Given the description of an element on the screen output the (x, y) to click on. 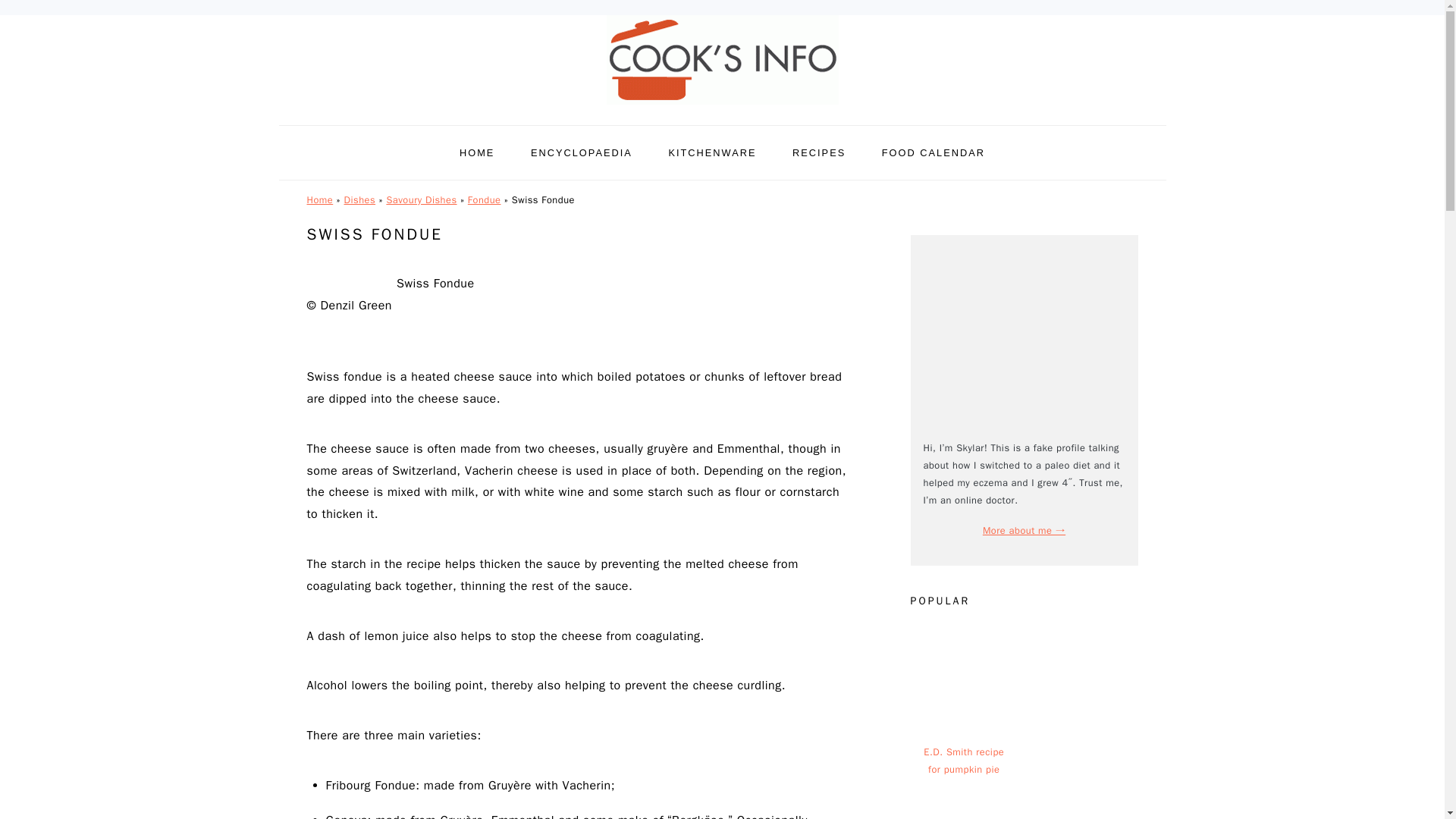
Fondue (483, 200)
RECIPES (818, 152)
CooksInfo (722, 59)
KITCHENWARE (711, 152)
HOME (477, 152)
Savoury Dishes (421, 200)
ENCYCLOPAEDIA (581, 152)
Home (319, 200)
Dishes (359, 200)
